Given the description of an element on the screen output the (x, y) to click on. 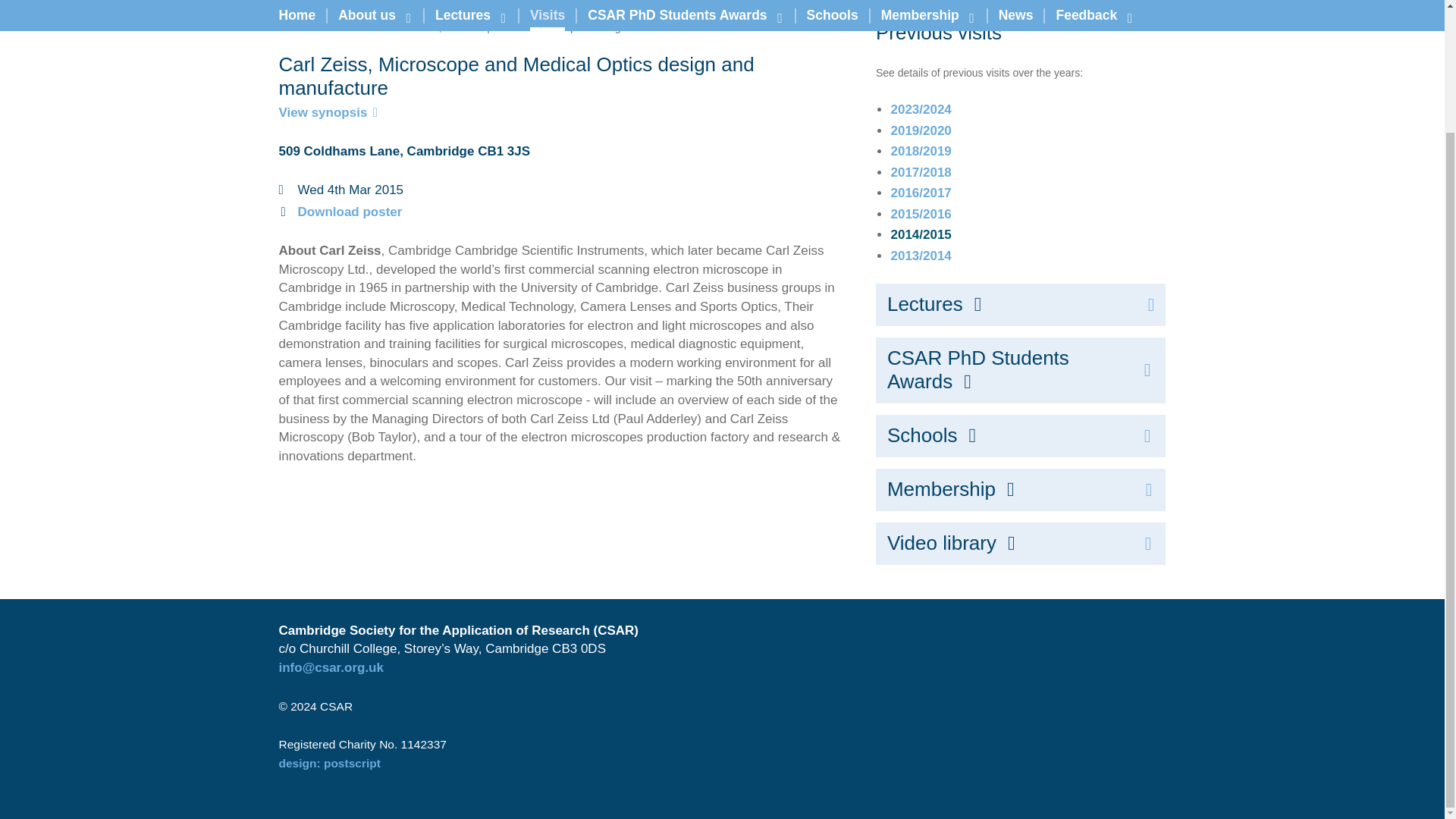
Visits (293, 27)
Download poster (349, 211)
View synopsis (328, 112)
